Given the description of an element on the screen output the (x, y) to click on. 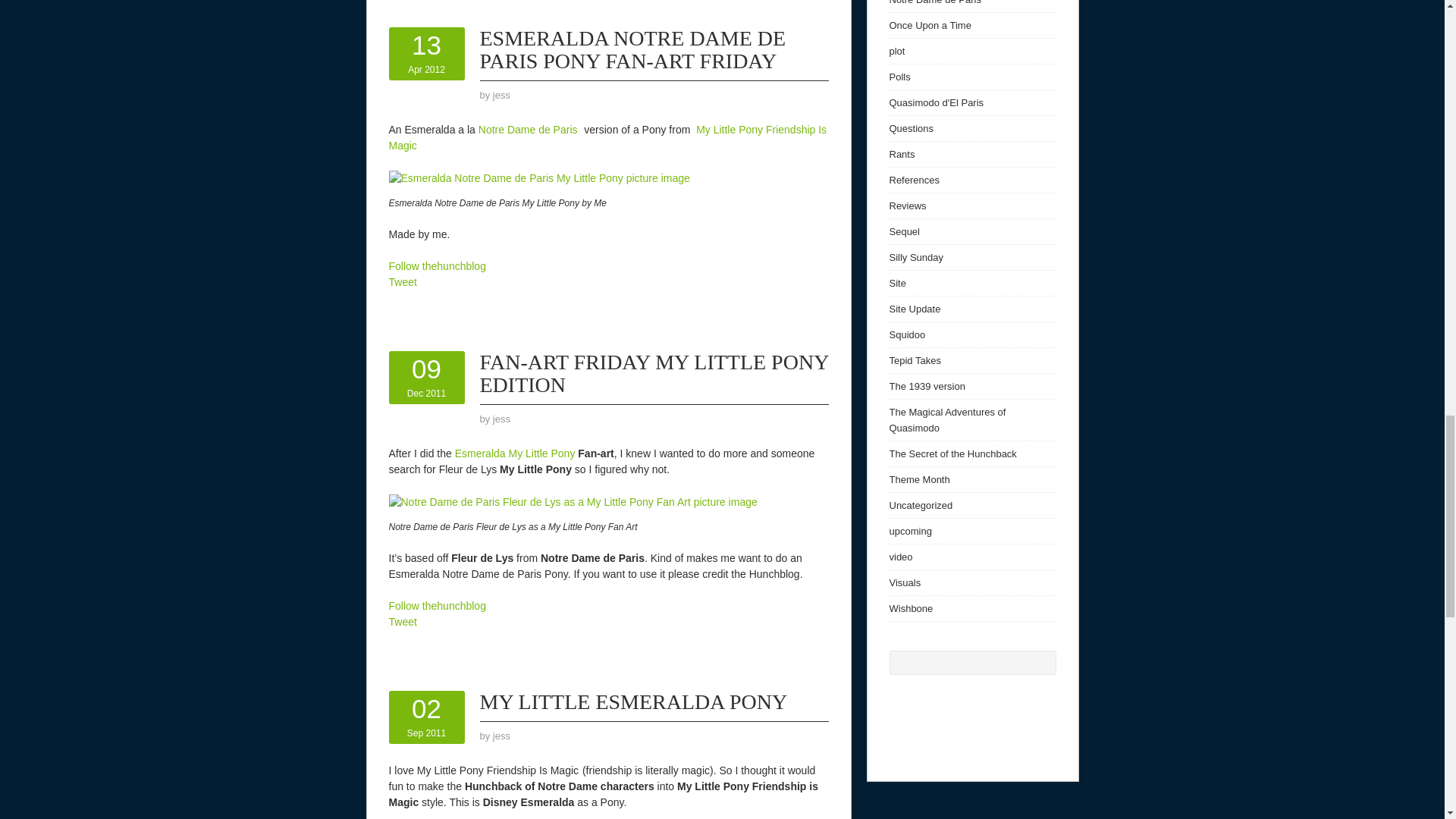
Esmeralda My Little Pony (514, 453)
Notre Dame de Paris (426, 53)
ESMERALDA NOTRE DAME DE PARIS PONY FAN-ART FRIDAY (529, 129)
My Little Pony Friendship Is Magic (426, 377)
by jess (632, 49)
Tweet (607, 137)
Esmeralda Notre Dame de Paris My Little Pony  (502, 94)
jess (402, 621)
